Given the description of an element on the screen output the (x, y) to click on. 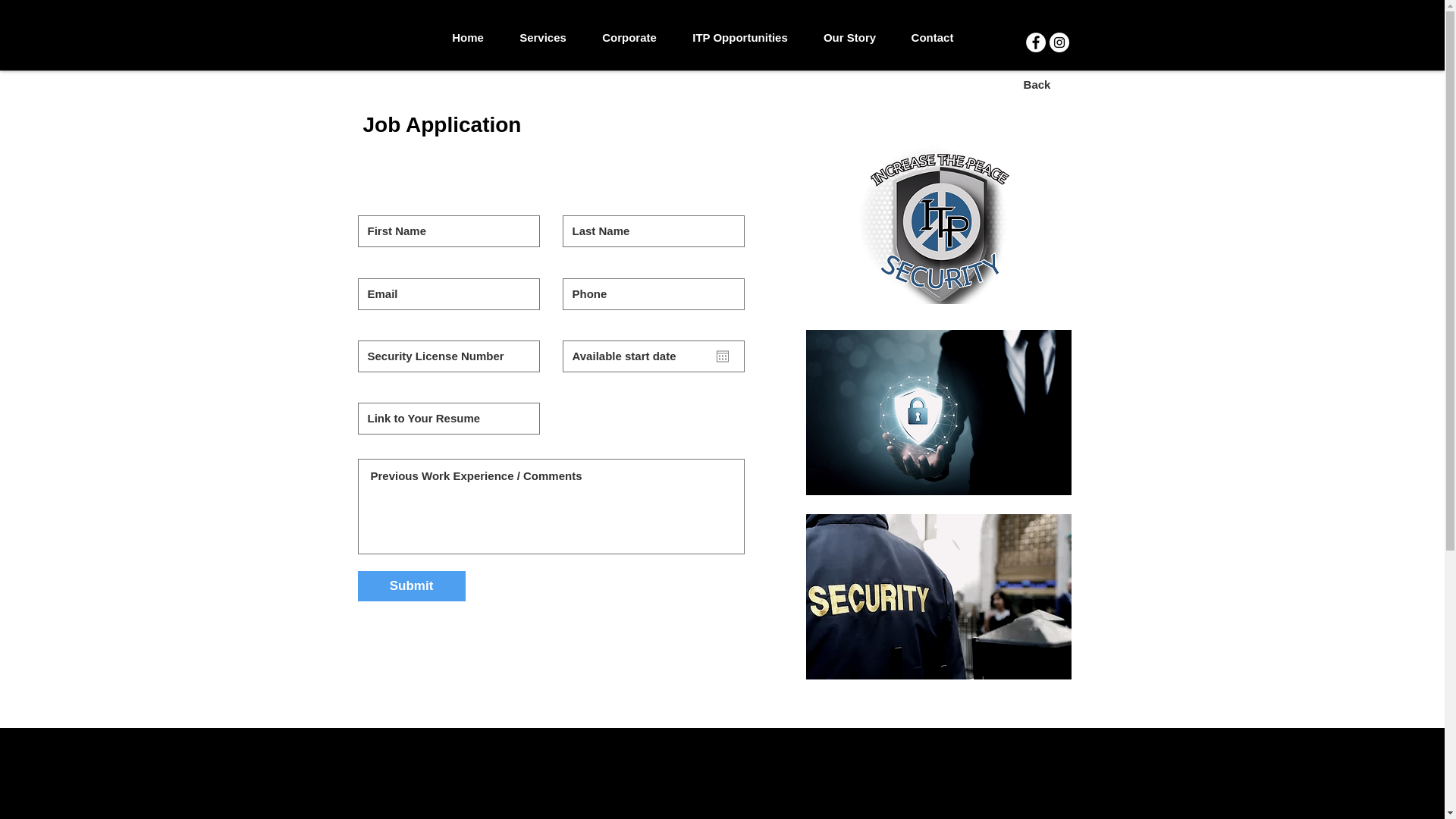
Corporate Element type: text (628, 37)
Back Element type: text (1036, 84)
ITP Opportunities Element type: text (740, 37)
Submit Element type: text (411, 586)
Contact Element type: text (931, 37)
Our Story Element type: text (849, 37)
Home Element type: text (467, 37)
Services Element type: text (543, 37)
